Given the description of an element on the screen output the (x, y) to click on. 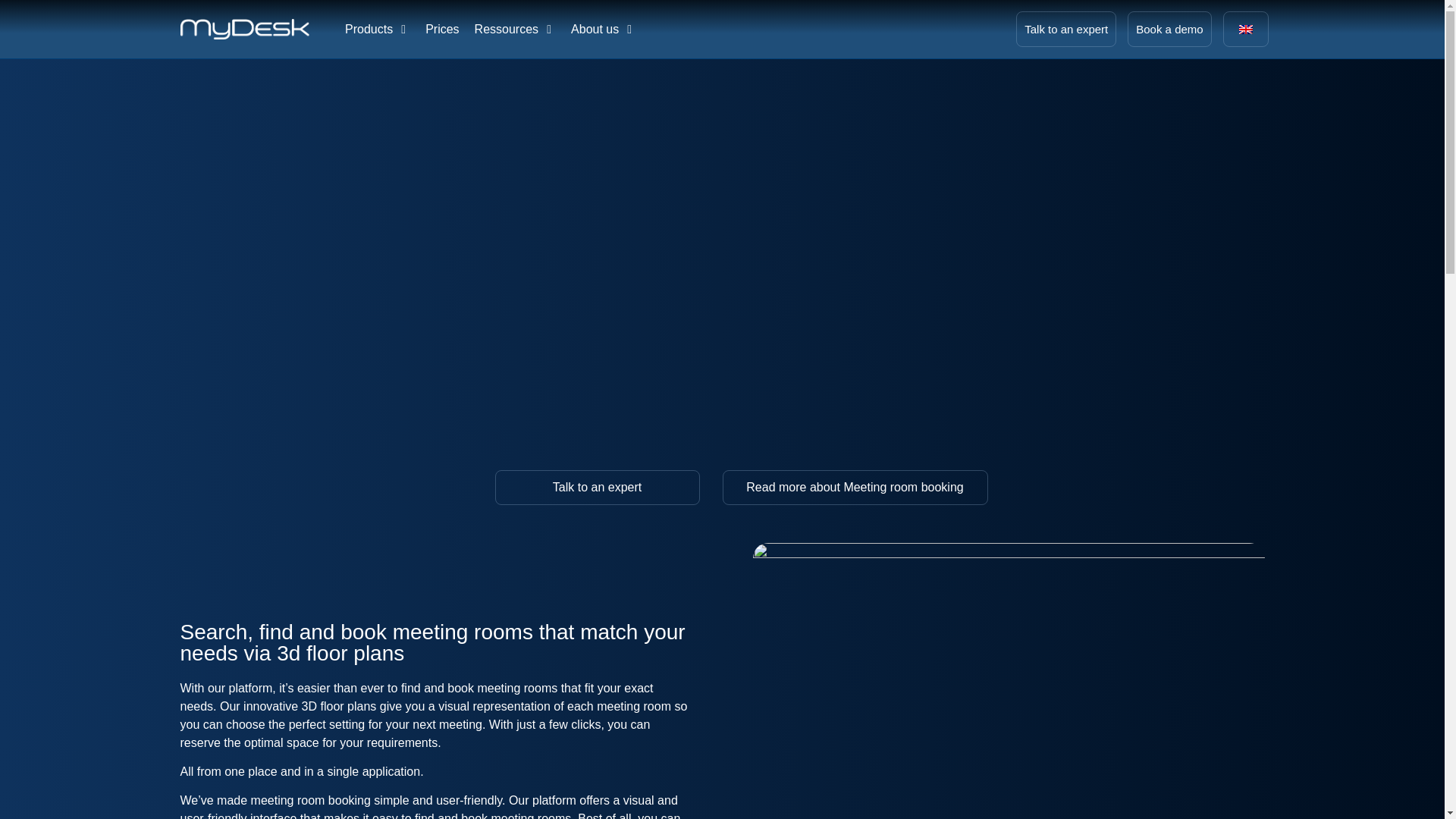
logo-w - MyDesk (244, 28)
About us (594, 28)
Prices (441, 28)
Products (369, 28)
Ressources (506, 28)
